Given the description of an element on the screen output the (x, y) to click on. 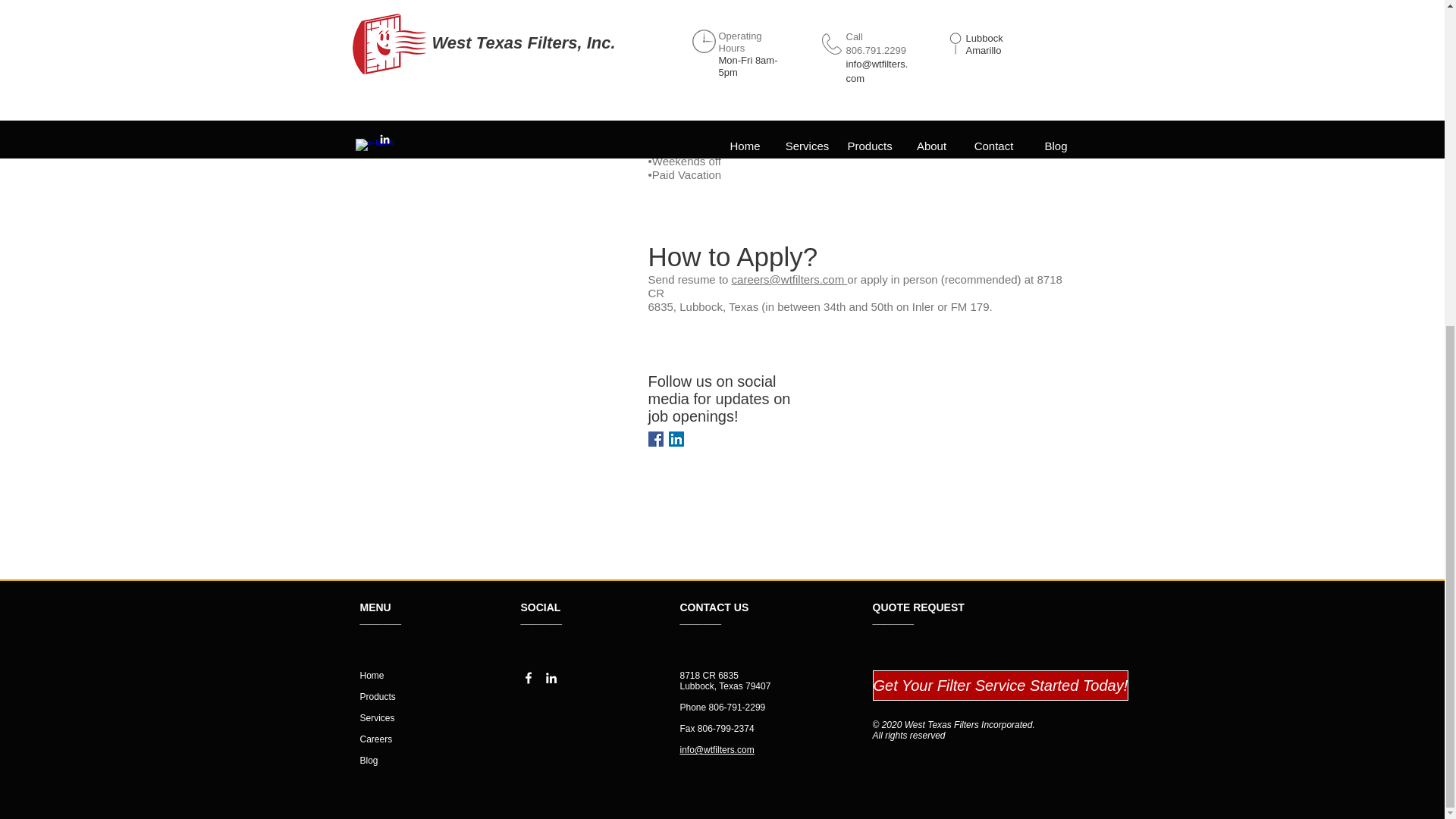
Careers (375, 738)
Products (376, 696)
Services (376, 717)
Home (371, 675)
Get Your Filter Service Started Today! (1000, 685)
Blog (368, 760)
